Given the description of an element on the screen output the (x, y) to click on. 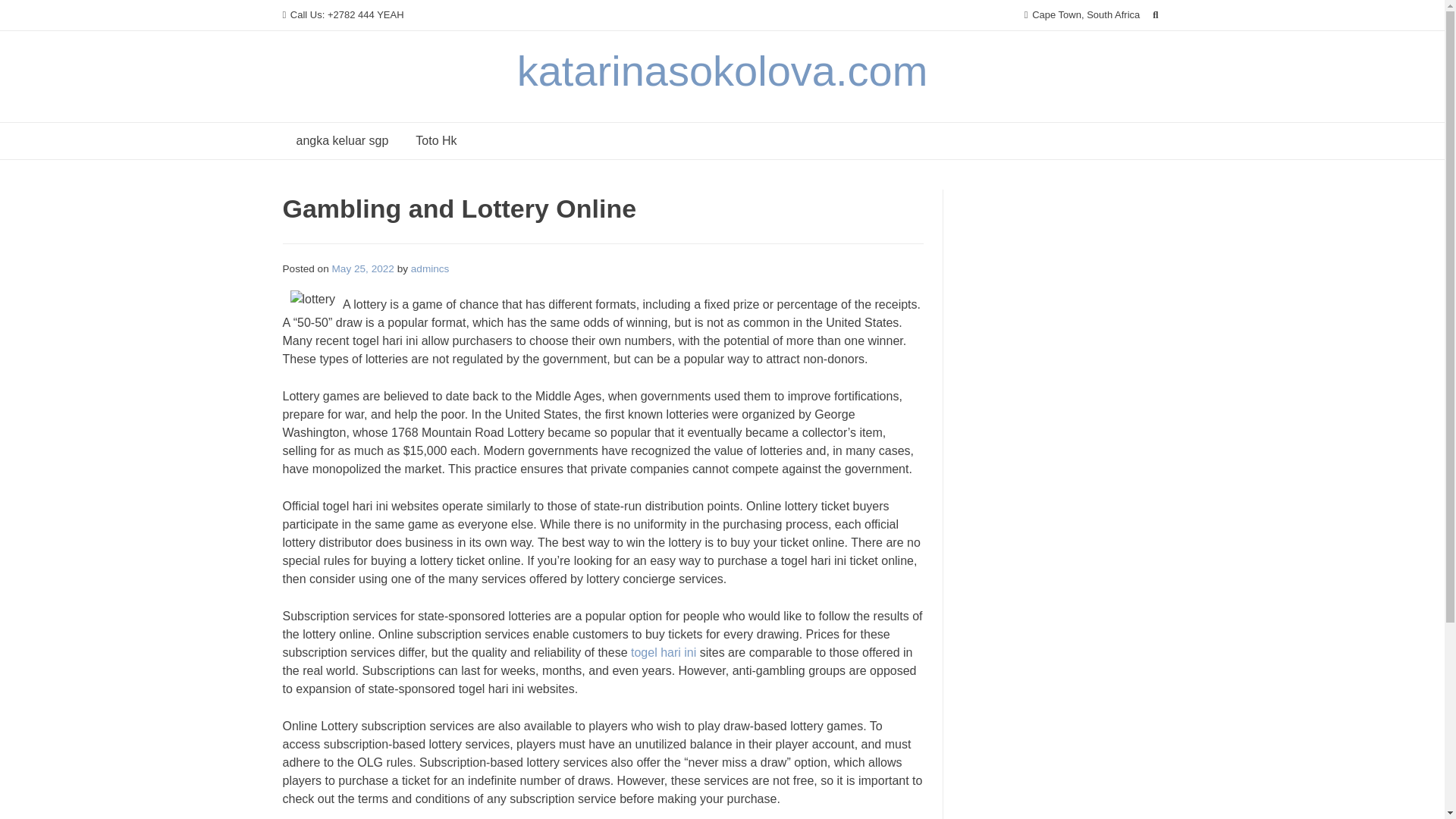
angka keluar sgp (341, 140)
Toto Hk (435, 140)
admincs (429, 268)
togel hari ini (662, 652)
May 25, 2022 (362, 268)
katarinasokolova.com (722, 70)
Search (27, 13)
